Given the description of an element on the screen output the (x, y) to click on. 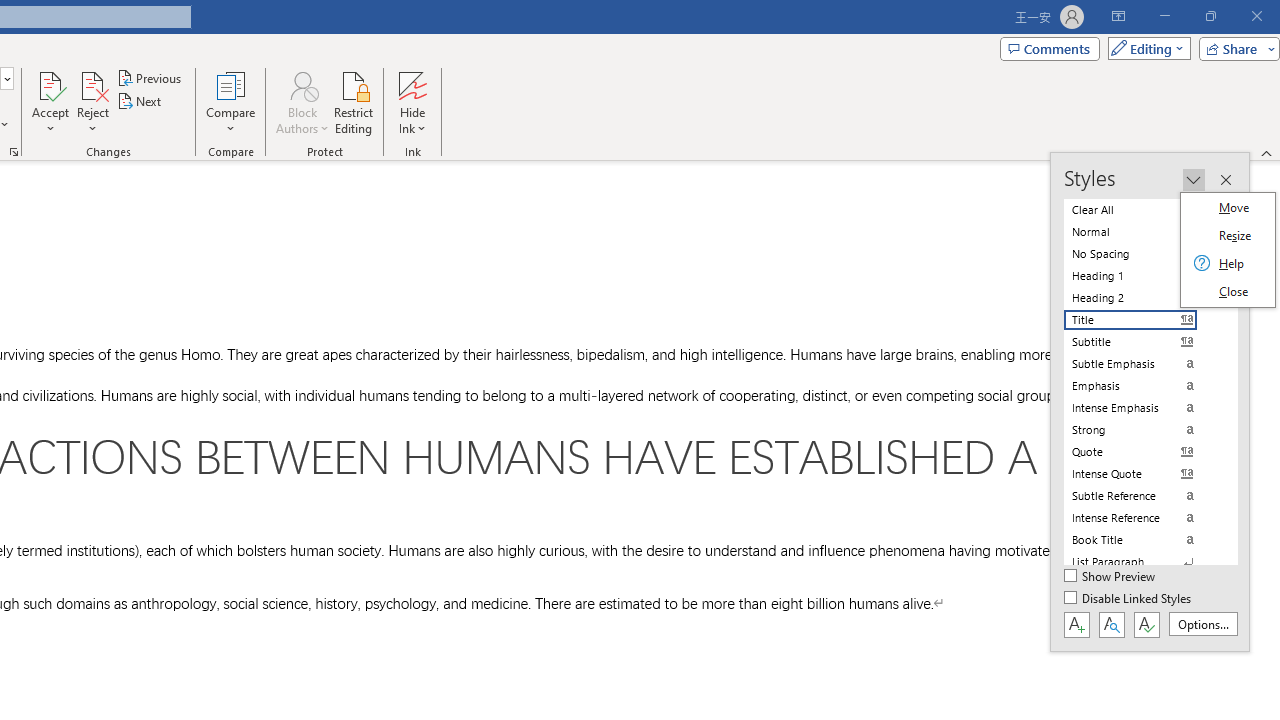
Change Tracking Options... (13, 151)
Restrict Editing (353, 102)
Reject (92, 102)
Reject and Move to Next (92, 84)
Subtle Emphasis (1142, 363)
Next (140, 101)
Previous (150, 78)
Block Authors (302, 84)
